Given the description of an element on the screen output the (x, y) to click on. 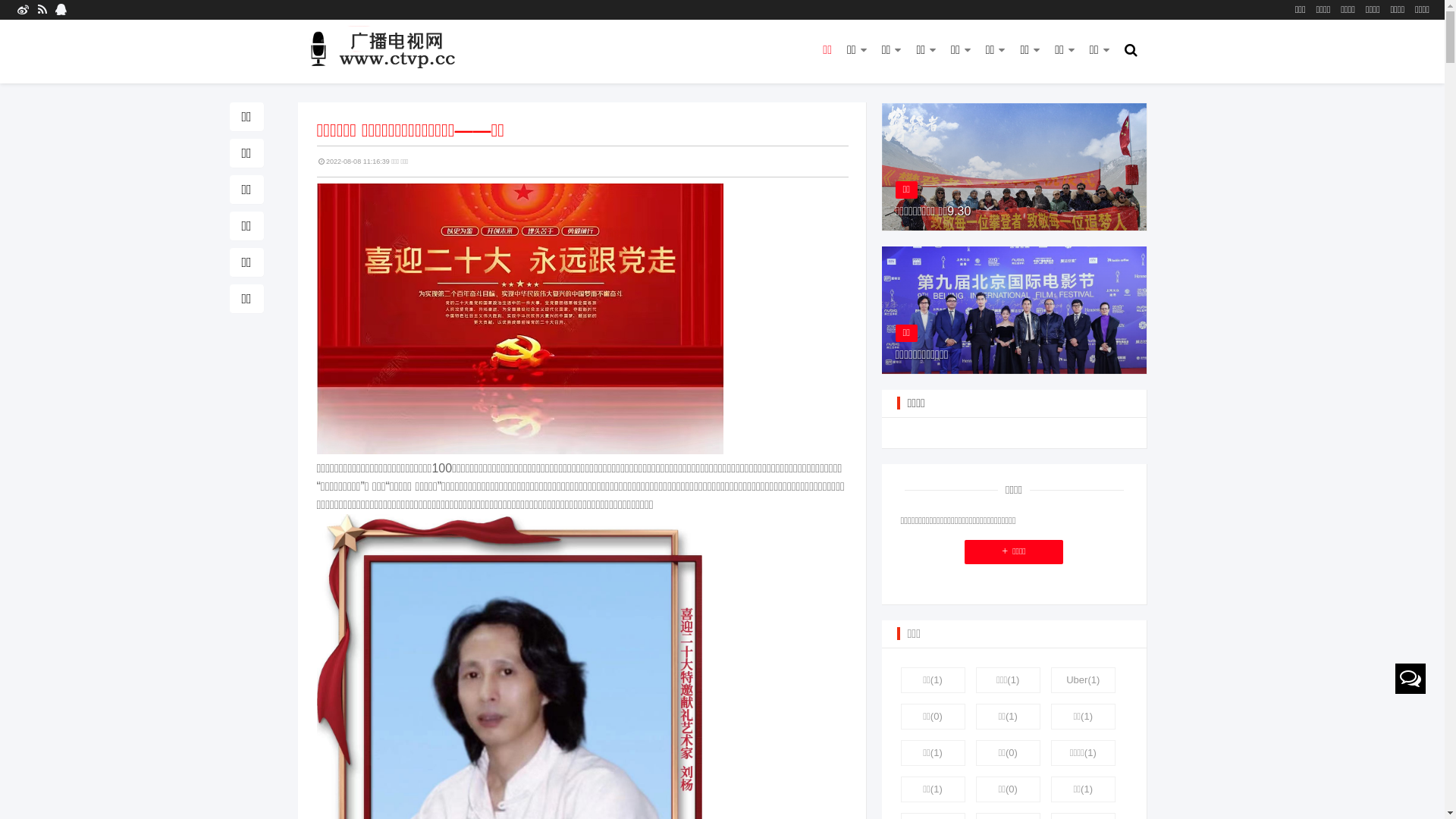
Uber(1) Element type: text (1083, 680)
